Given the description of an element on the screen output the (x, y) to click on. 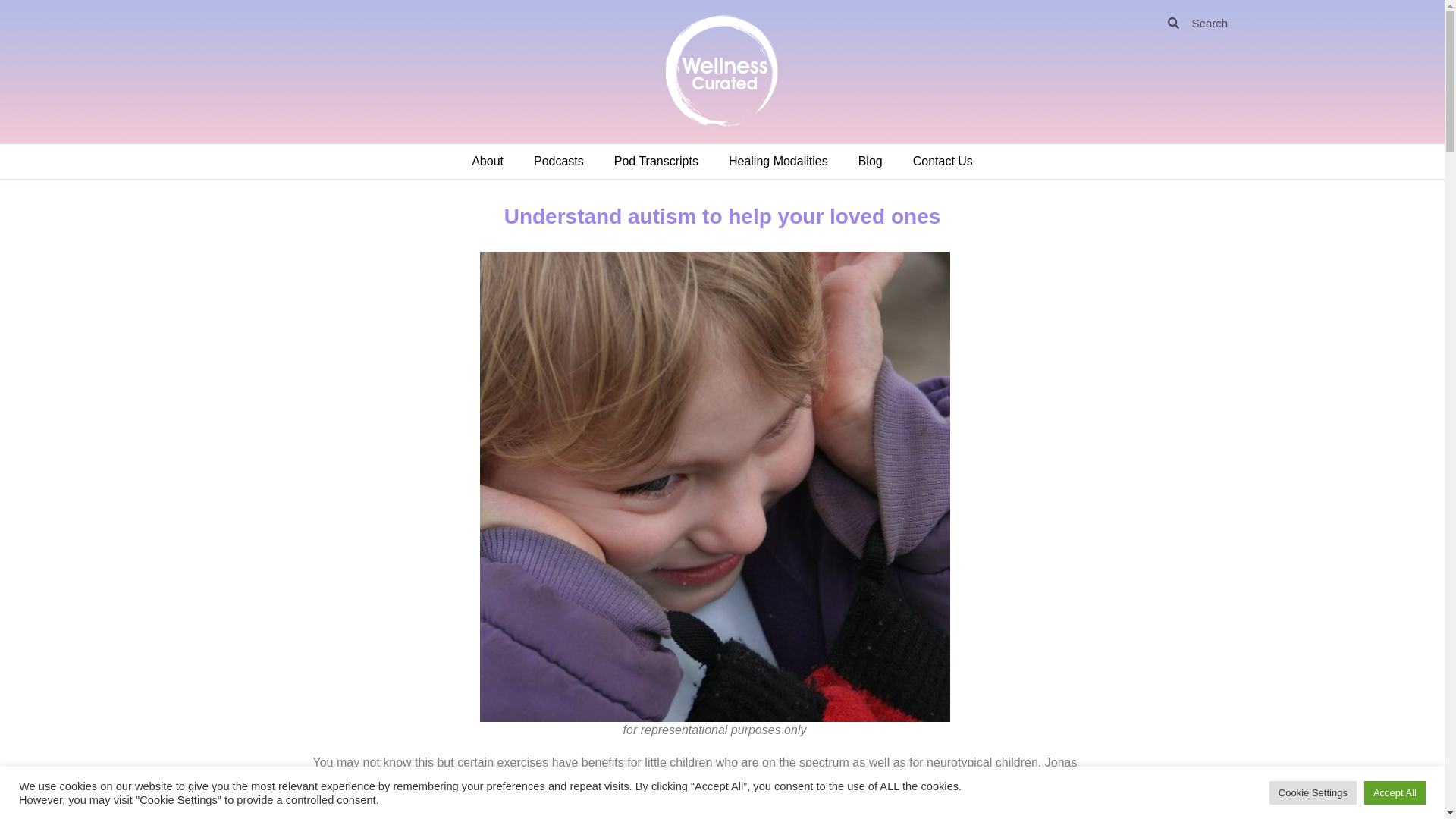
Podcasts (558, 161)
Pod Transcripts (655, 161)
Healing Modalities (778, 161)
episode (846, 780)
autism (416, 798)
Contact Us (943, 161)
About (487, 161)
Blog (870, 161)
